Given the description of an element on the screen output the (x, y) to click on. 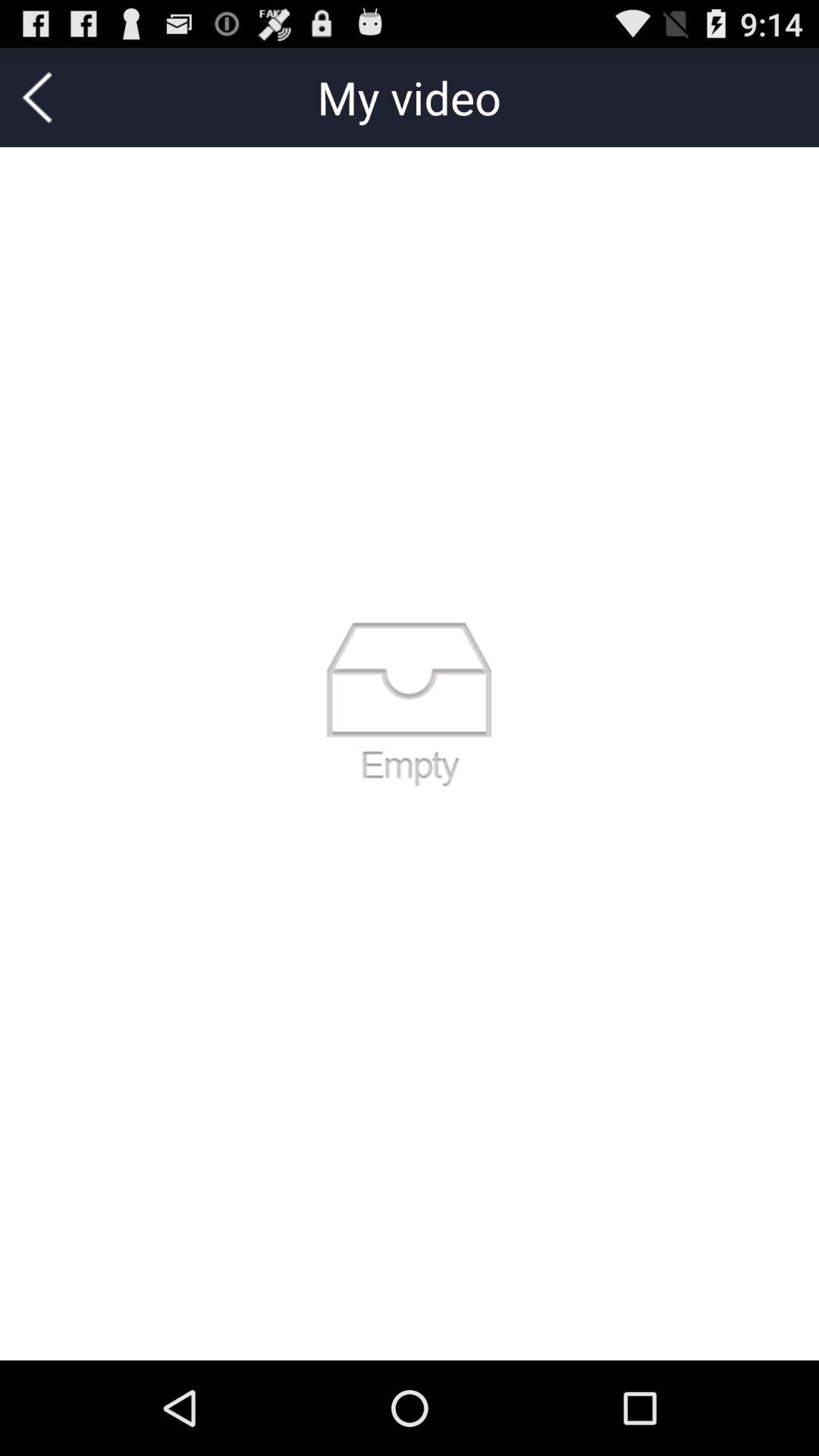
click the app next to the my video (37, 97)
